Given the description of an element on the screen output the (x, y) to click on. 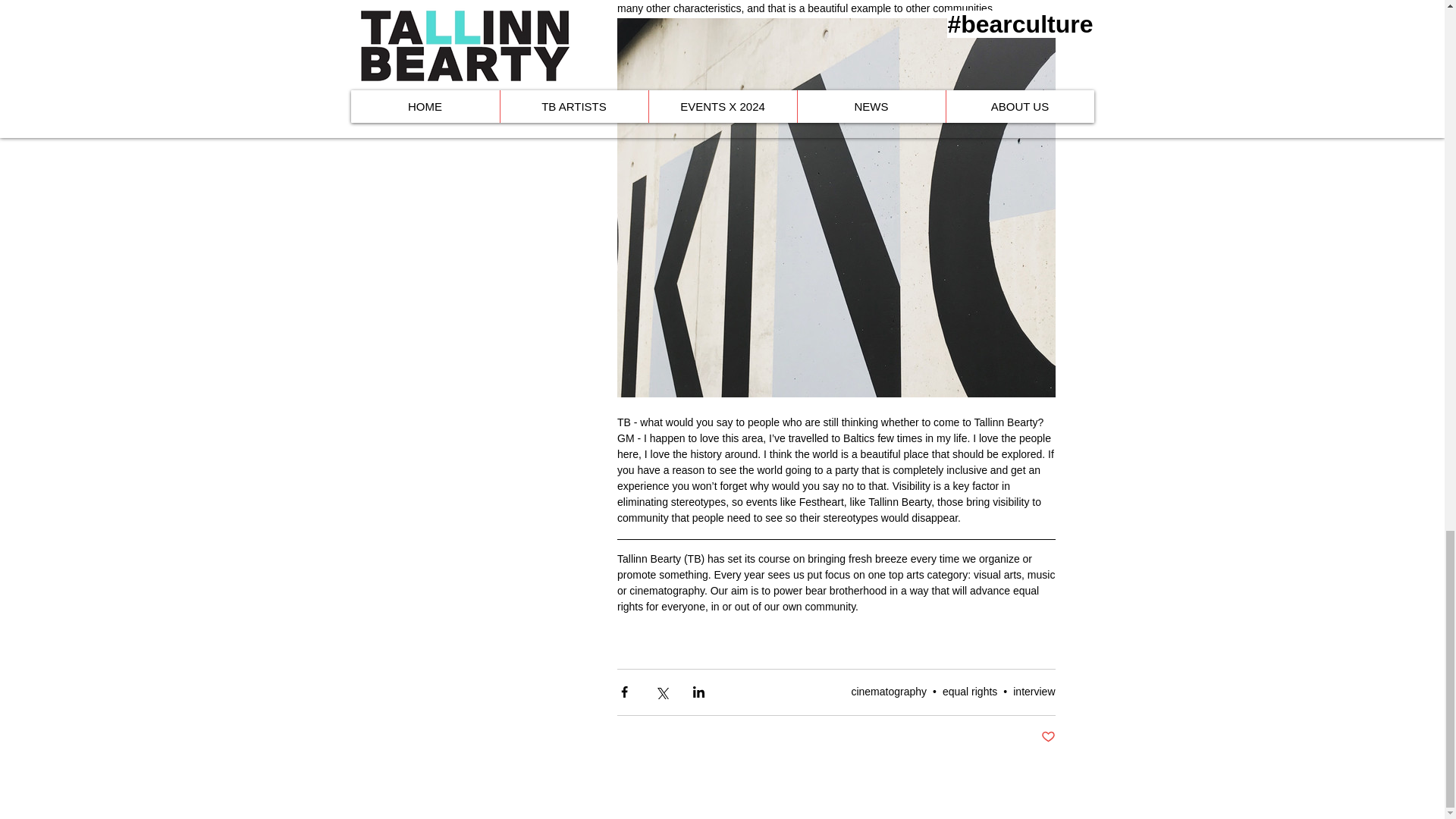
cinematography (888, 691)
Post not marked as liked (1047, 737)
interview (1033, 691)
equal rights (969, 691)
